Given the description of an element on the screen output the (x, y) to click on. 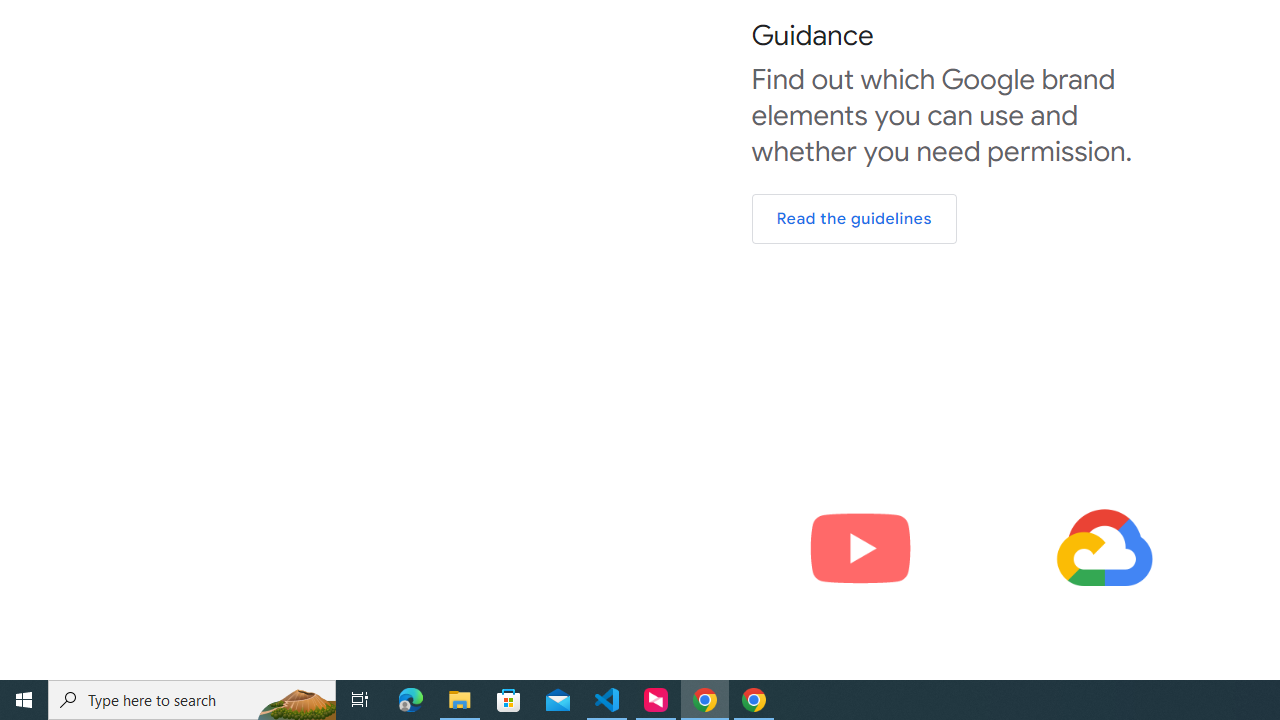
Read the guidelines (854, 218)
